Given the description of an element on the screen output the (x, y) to click on. 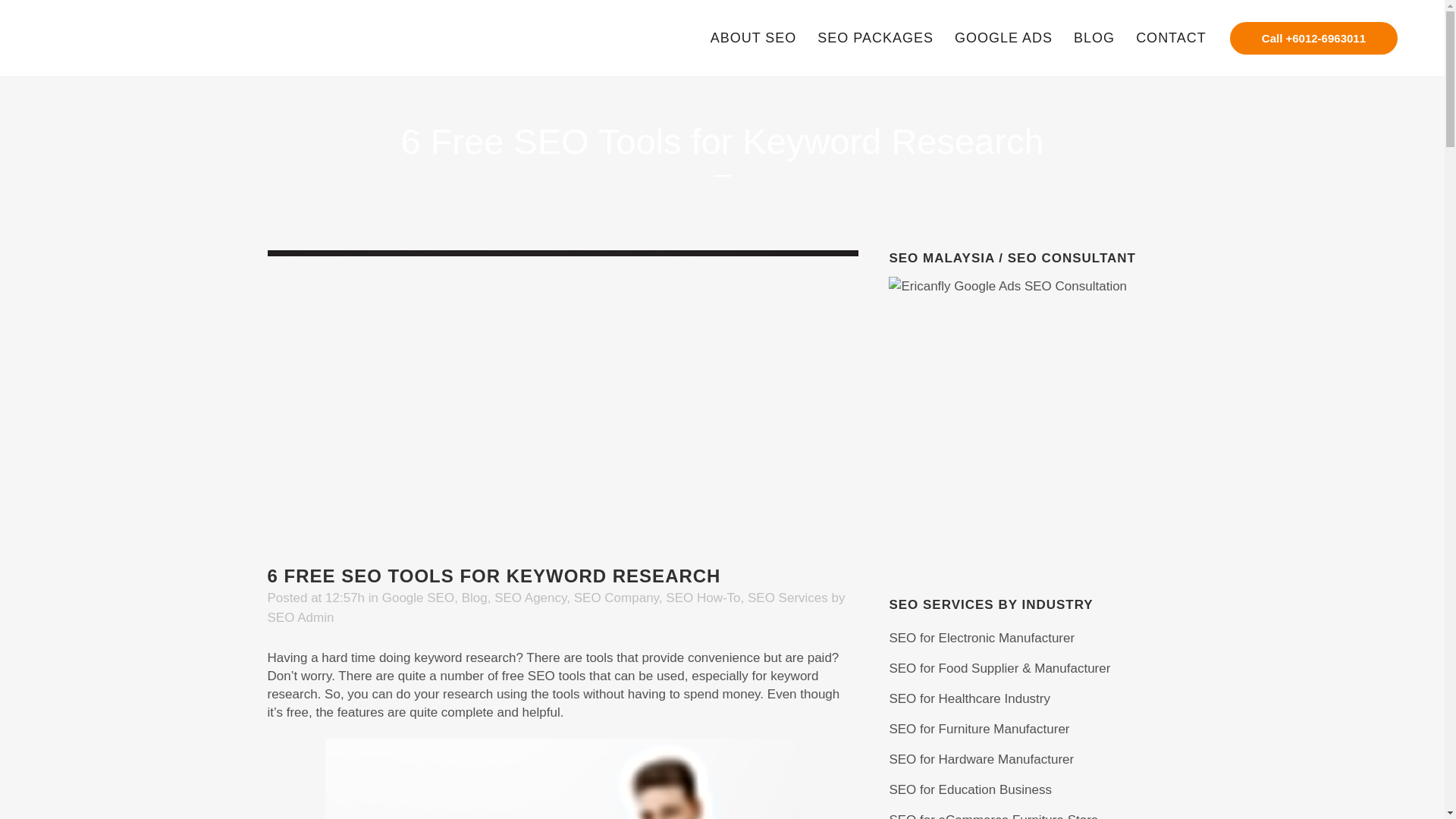
SEO Admin (299, 617)
Google SEO (417, 597)
SEO Services (788, 597)
SEO Agency (530, 597)
SEO Company (616, 597)
GOOGLE ADS (1002, 38)
CONTACT (1171, 38)
ABOUT SEO (754, 38)
SEO for Healthcare Industry (968, 698)
SEO How-To (702, 597)
Blog (474, 597)
SEO PACKAGES (874, 38)
SEO for Electronic Manufacturer (981, 637)
